Given the description of an element on the screen output the (x, y) to click on. 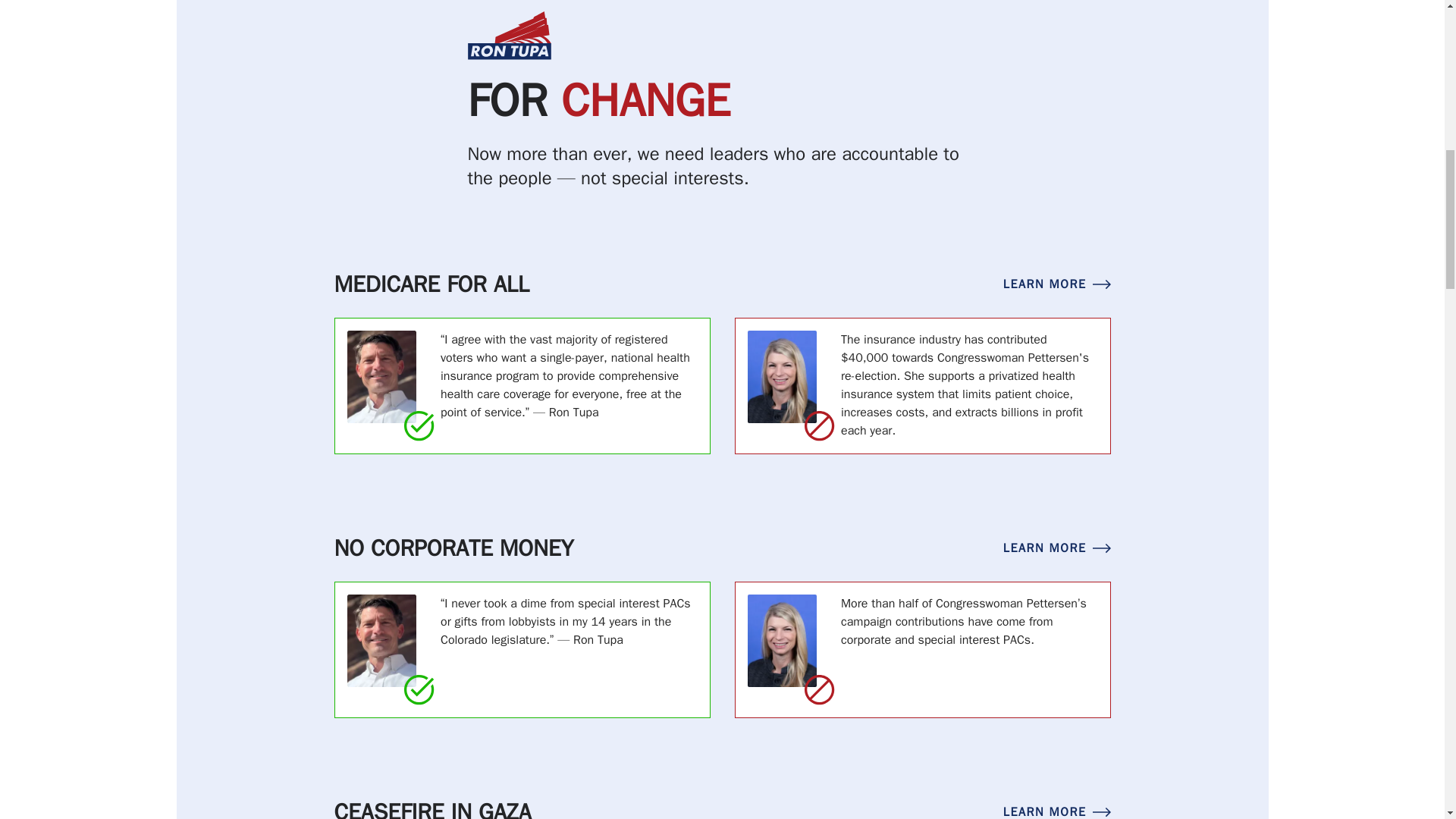
LEARN MORE (1056, 805)
LEARN MORE (1056, 548)
LEARN MORE (1056, 283)
